Given the description of an element on the screen output the (x, y) to click on. 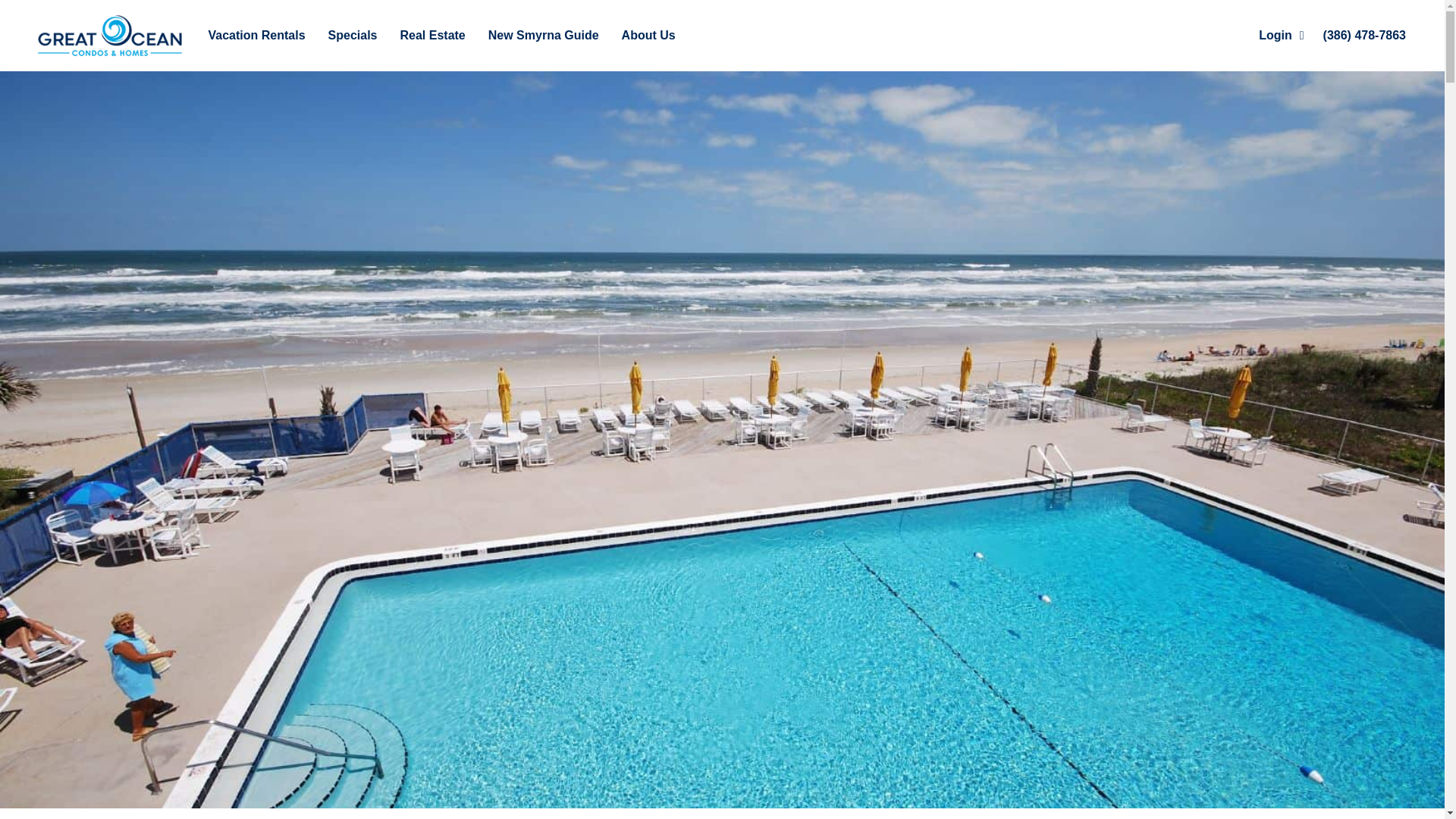
Specials (352, 35)
Vacation Rentals (256, 35)
Real Estate (433, 35)
